Given the description of an element on the screen output the (x, y) to click on. 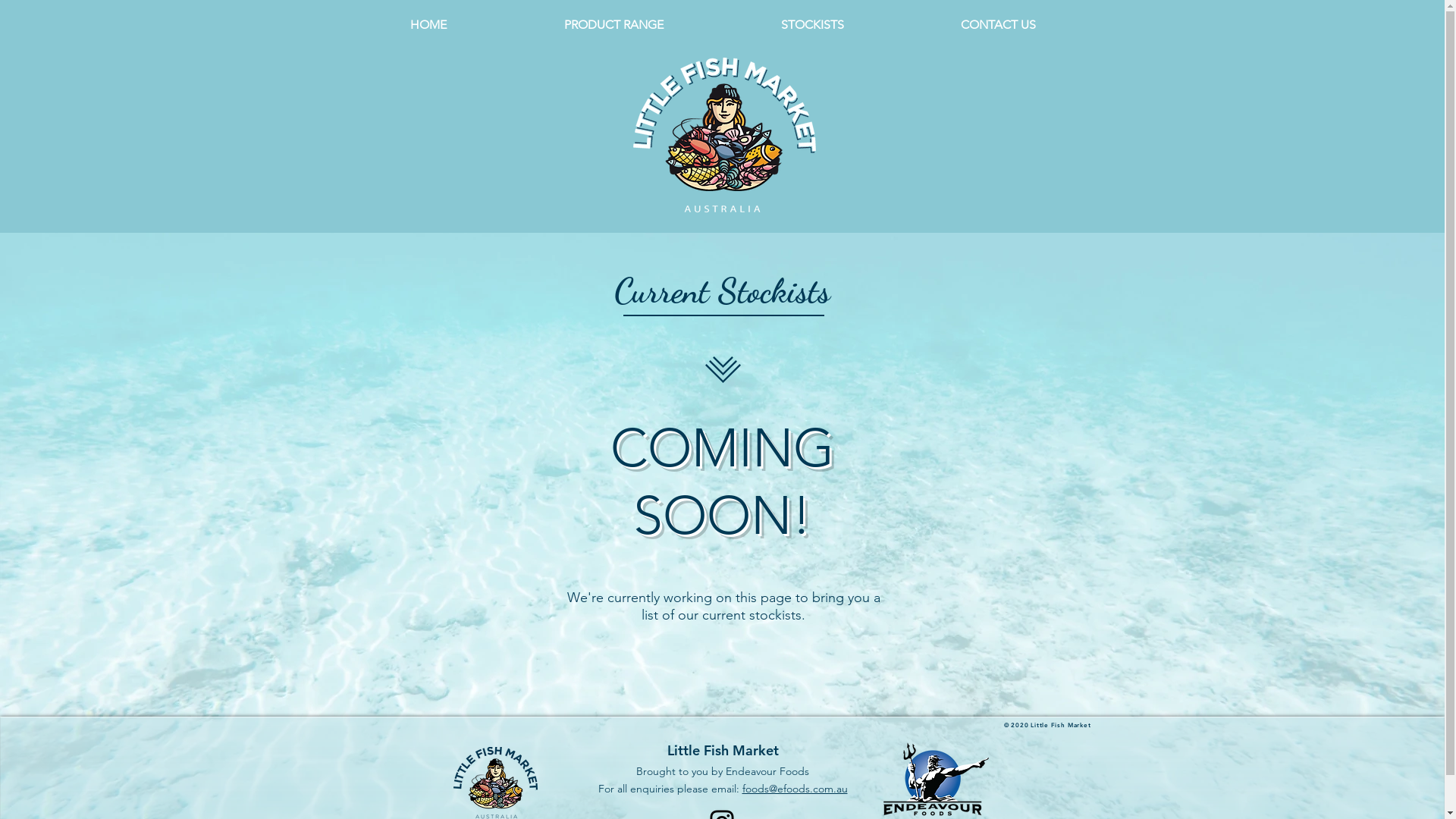
STOCKISTS Element type: text (811, 24)
PRODUCT RANGE Element type: text (613, 24)
HOME Element type: text (428, 24)
foods@efoods.com.au Element type: text (794, 788)
CONTACT US Element type: text (998, 24)
